Given the description of an element on the screen output the (x, y) to click on. 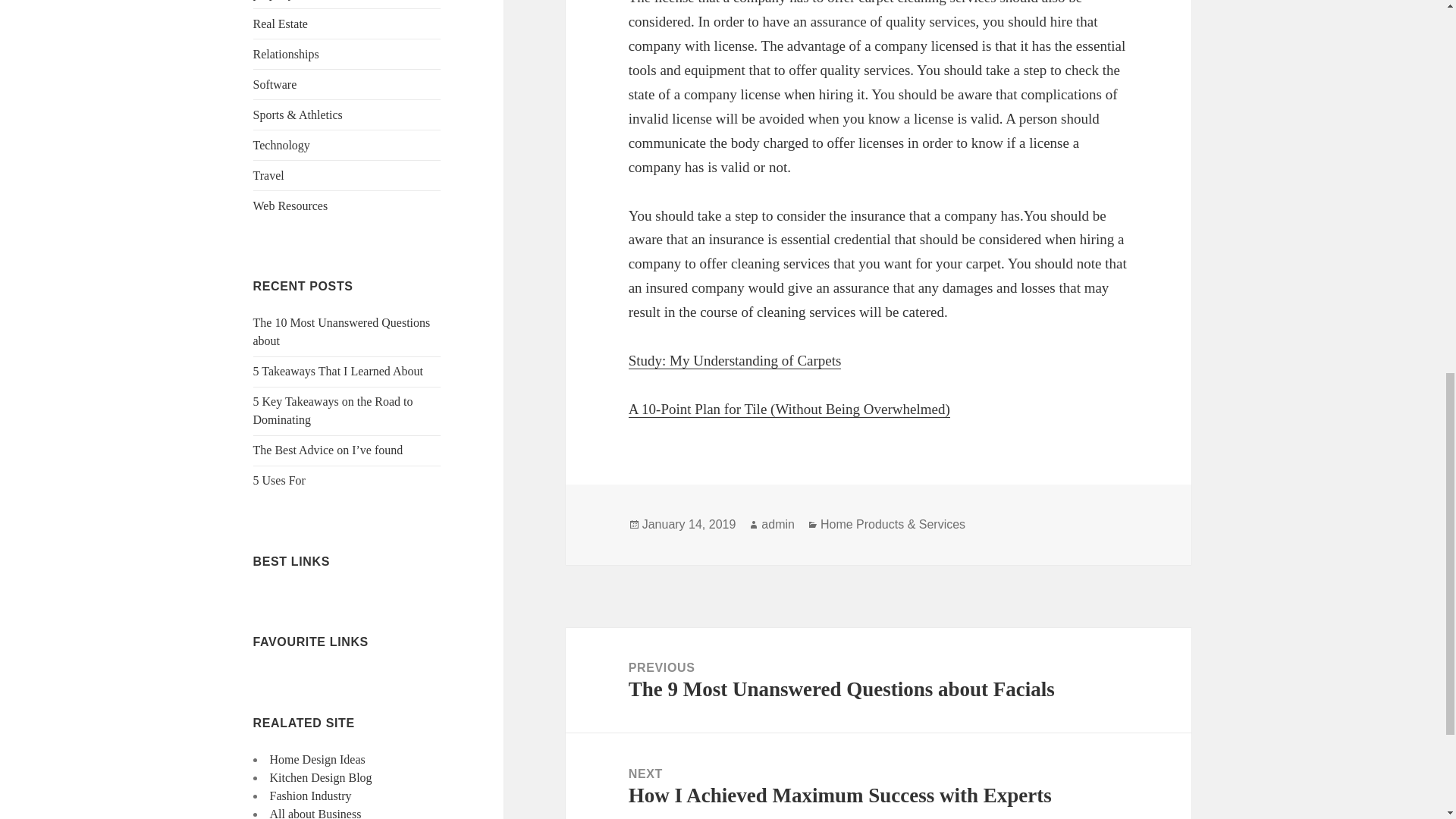
Real Estate (280, 23)
Technology (281, 144)
Kitchen Design Blog (320, 777)
Software (275, 83)
The 10 Most Unanswered Questions about (341, 331)
5 Takeaways That I Learned About (338, 370)
5 Uses For (279, 480)
Study: My Understanding of Carpets (734, 360)
All about Business (315, 813)
Web Resources (291, 205)
Travel (268, 174)
Fashion Industry (310, 795)
5 Key Takeaways on the Road to Dominating (333, 409)
Home Design Ideas (317, 758)
Relationships (285, 53)
